Given the description of an element on the screen output the (x, y) to click on. 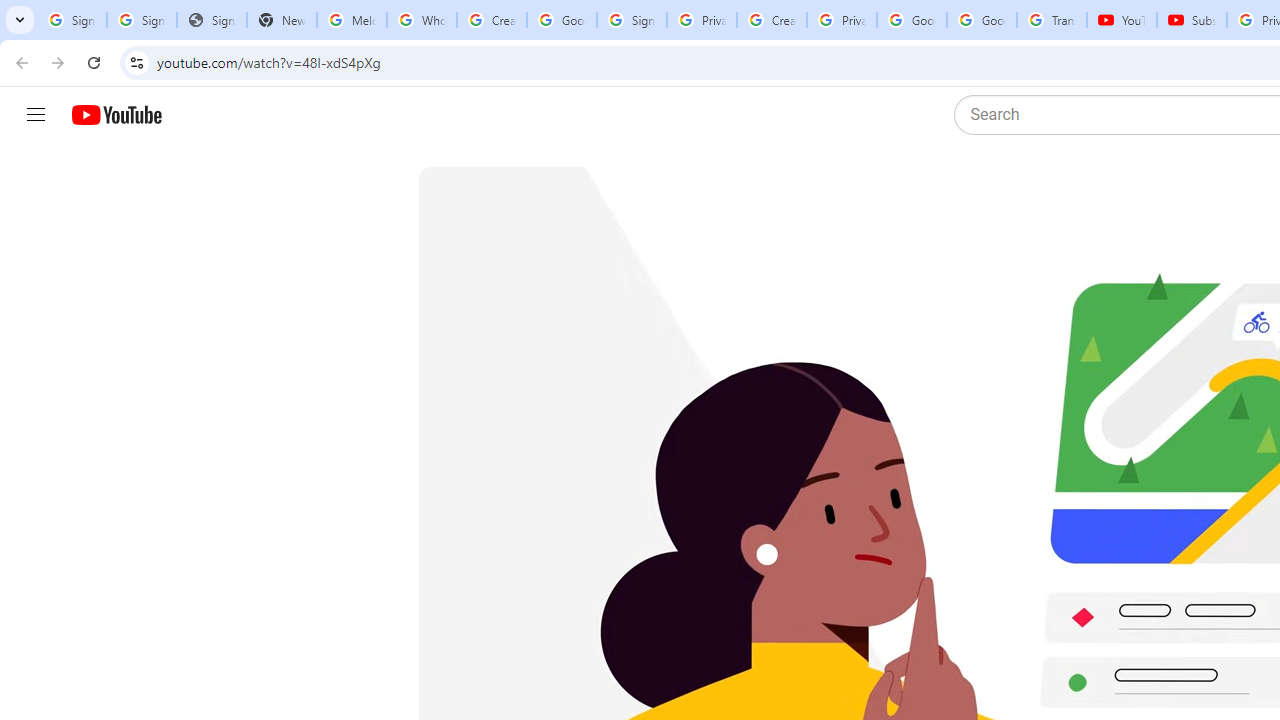
Subscriptions - YouTube (1192, 20)
YouTube (1121, 20)
Create your Google Account (772, 20)
Sign in - Google Accounts (631, 20)
Sign in - Google Accounts (141, 20)
